Given the description of an element on the screen output the (x, y) to click on. 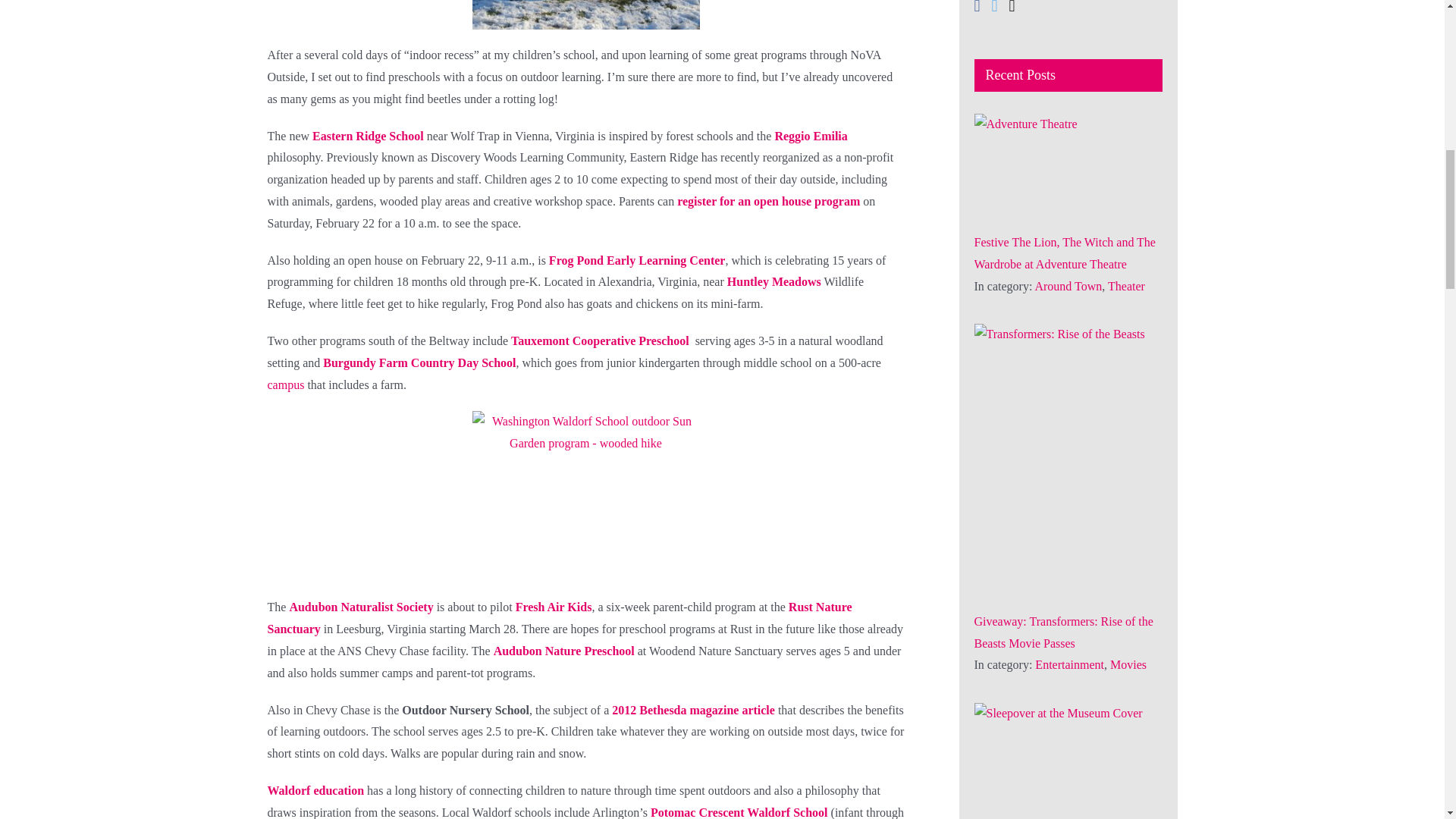
Potomac Crescent Waldorf School (739, 812)
Burgundy Farm Country Day  School (419, 362)
Audubon Naturalist Society (360, 606)
Eastern Ridge School (368, 135)
Waldorf education (315, 789)
Audubon Naturalist Society (360, 606)
Fresh Air Kids (553, 606)
Reggio Emilia (810, 135)
Huntley Meadows (773, 281)
Burgundy Farm Country Day School (419, 362)
